Given the description of an element on the screen output the (x, y) to click on. 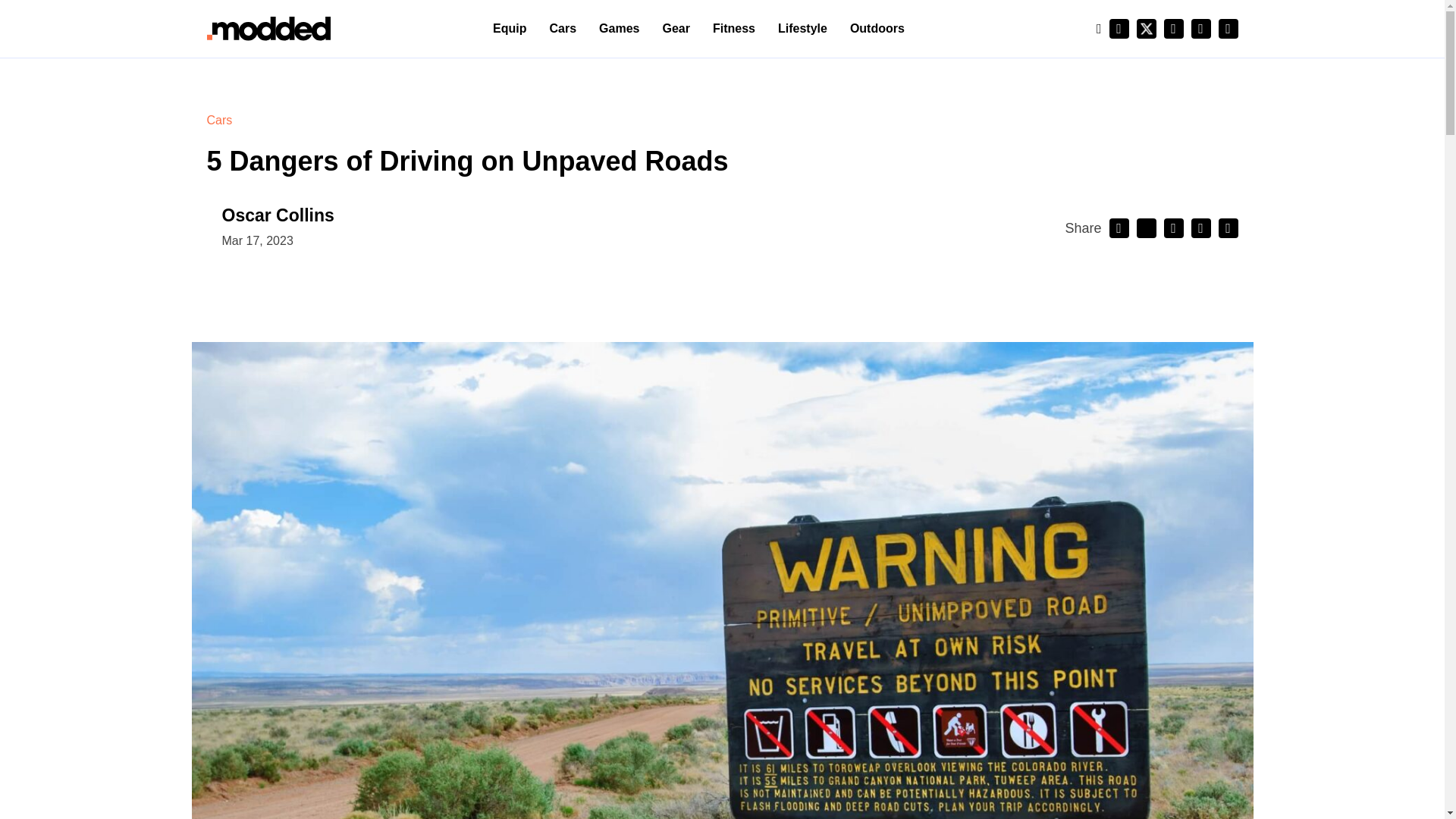
x-twitter-white (1145, 28)
Oscar Collins (277, 215)
Outdoors (877, 28)
Cars (218, 119)
